Given the description of an element on the screen output the (x, y) to click on. 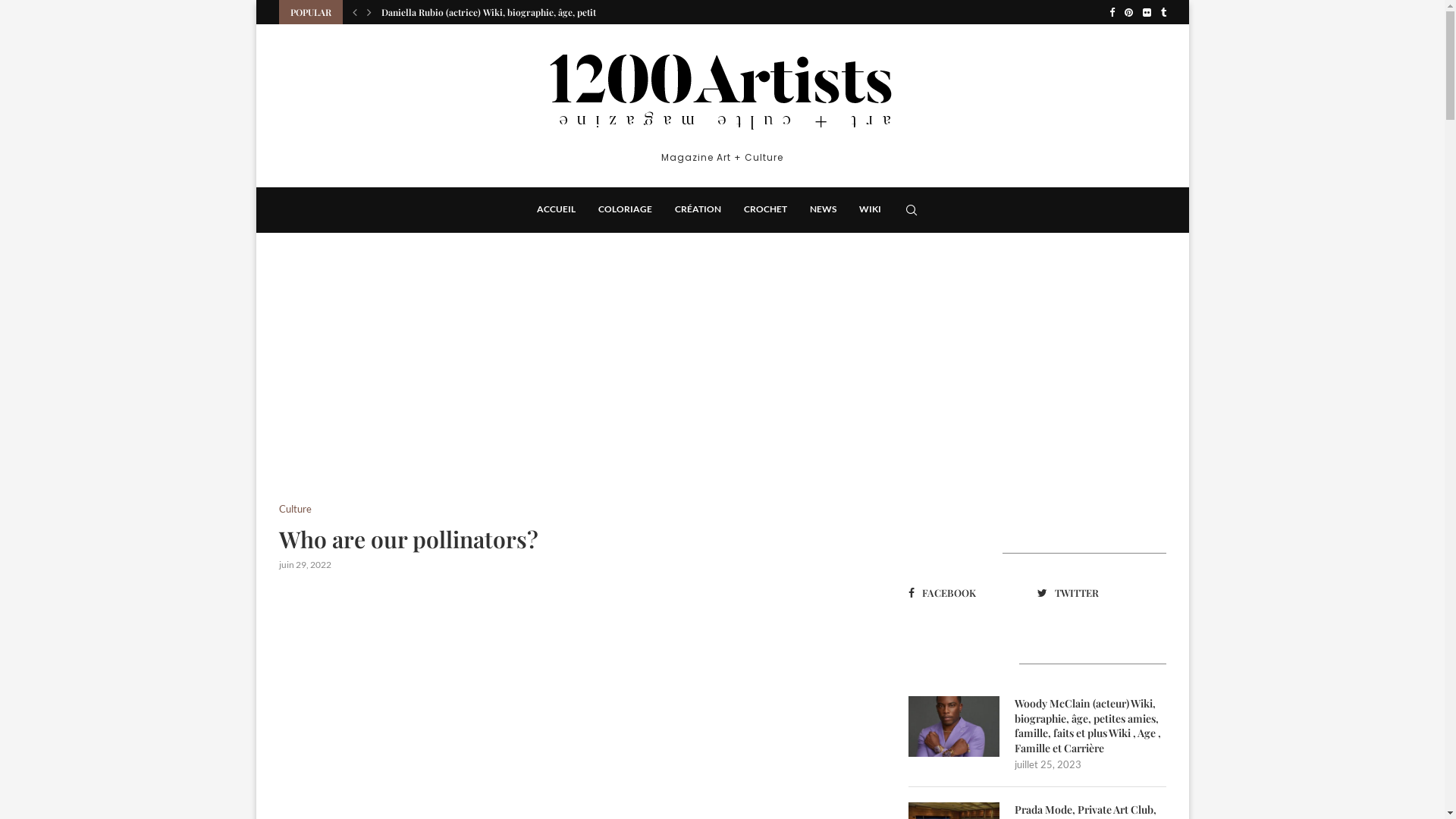
Culture Element type: text (295, 509)
NEWS Element type: text (822, 209)
WIKI Element type: text (869, 209)
Advertisement Element type: hover (574, 391)
COLORIAGE Element type: text (624, 209)
ACCUEIL Element type: text (555, 209)
TWITTER Element type: text (1096, 592)
Advertisement Element type: hover (1037, 391)
CROCHET Element type: text (765, 209)
FACEBOOK Element type: text (967, 592)
Advertisement Element type: hover (574, 702)
